Given the description of an element on the screen output the (x, y) to click on. 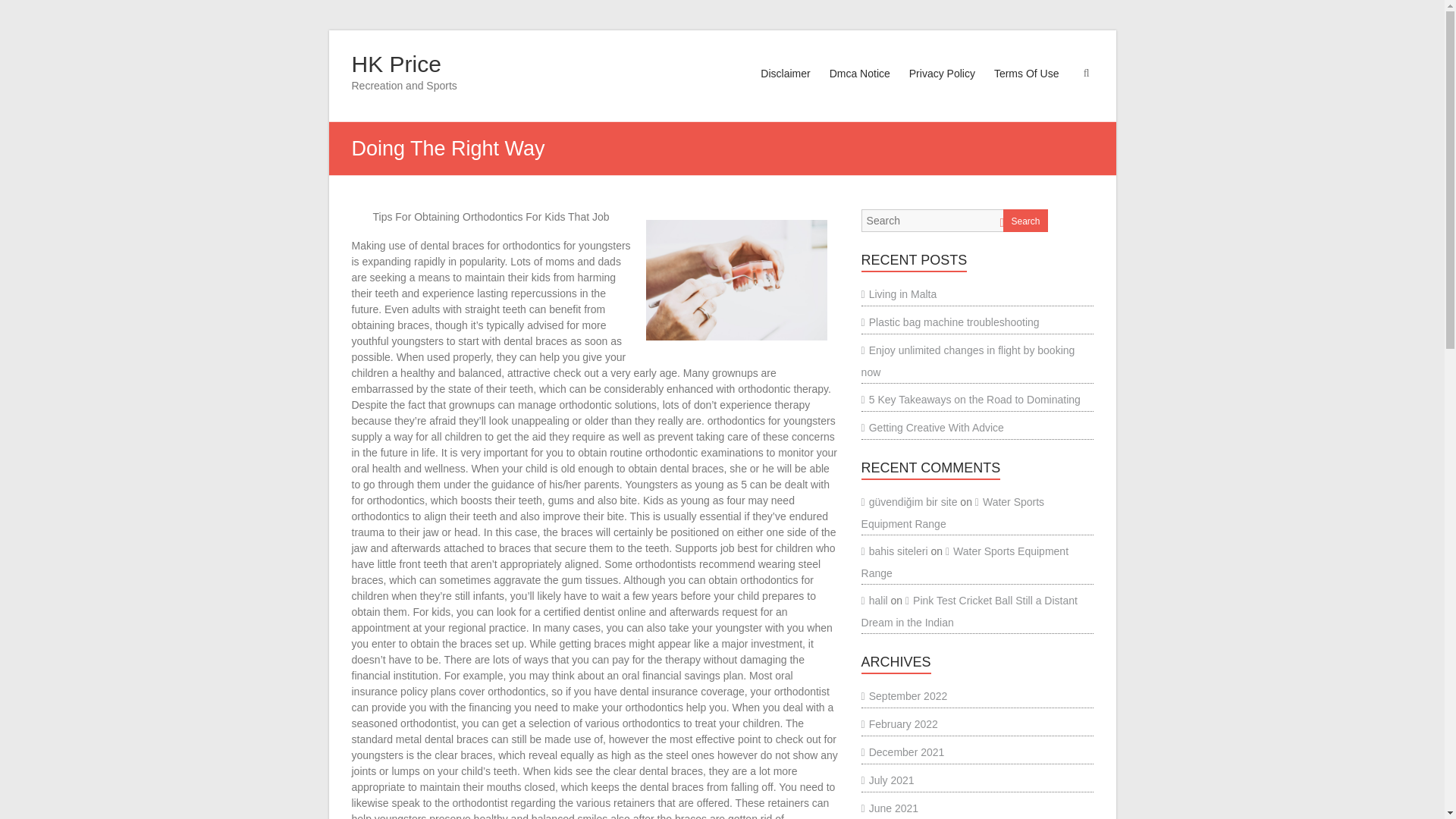
Terms Of Use (1026, 87)
Water Sports Equipment Range (953, 512)
Pink Test Cricket Ball Still a Distant Dream in the Indian (969, 611)
December 2021 (902, 752)
Search (1024, 220)
Privacy Policy (941, 87)
Plastic bag machine troubleshooting (950, 322)
5 Key Takeaways on the Road to Dominating (970, 399)
September 2022 (904, 695)
halil (874, 600)
Water Sports Equipment Range (964, 562)
Search (21, 11)
Disclaimer (784, 87)
July 2021 (887, 779)
